Given the description of an element on the screen output the (x, y) to click on. 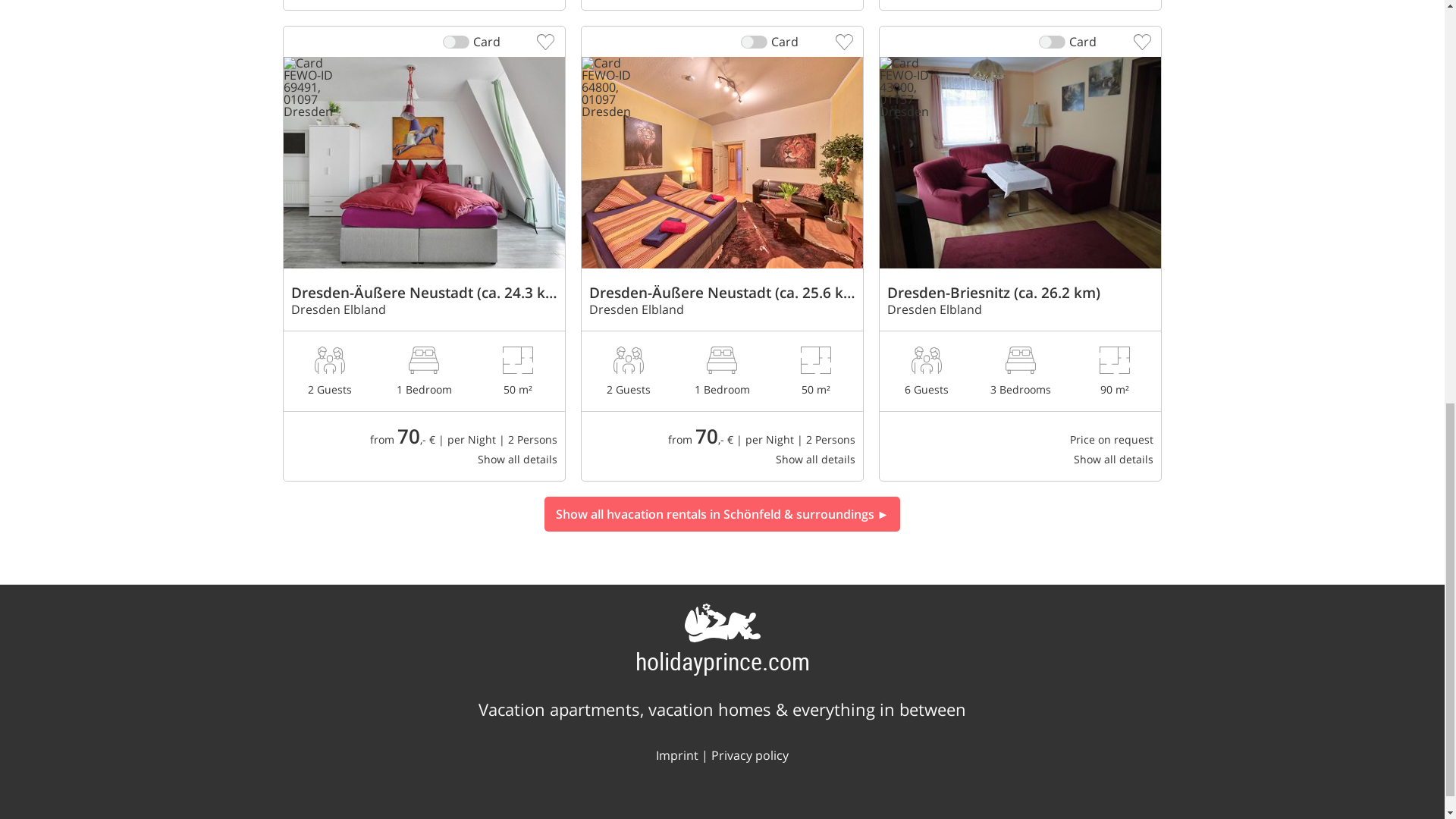
Vacation apartment Mey Nr. 1, Dresden Elbland (721, 5)
holidayprince.com (721, 660)
Vacation apartment Mey Nr. 2, Dresden Elbland (1019, 5)
Imprint (677, 754)
Vacation home Liebender, Dresden Elbland (423, 5)
Privacy policy (750, 754)
Vacation apartment Ferien bei Seifert, Dresden Elbland (1019, 368)
